Given the description of an element on the screen output the (x, y) to click on. 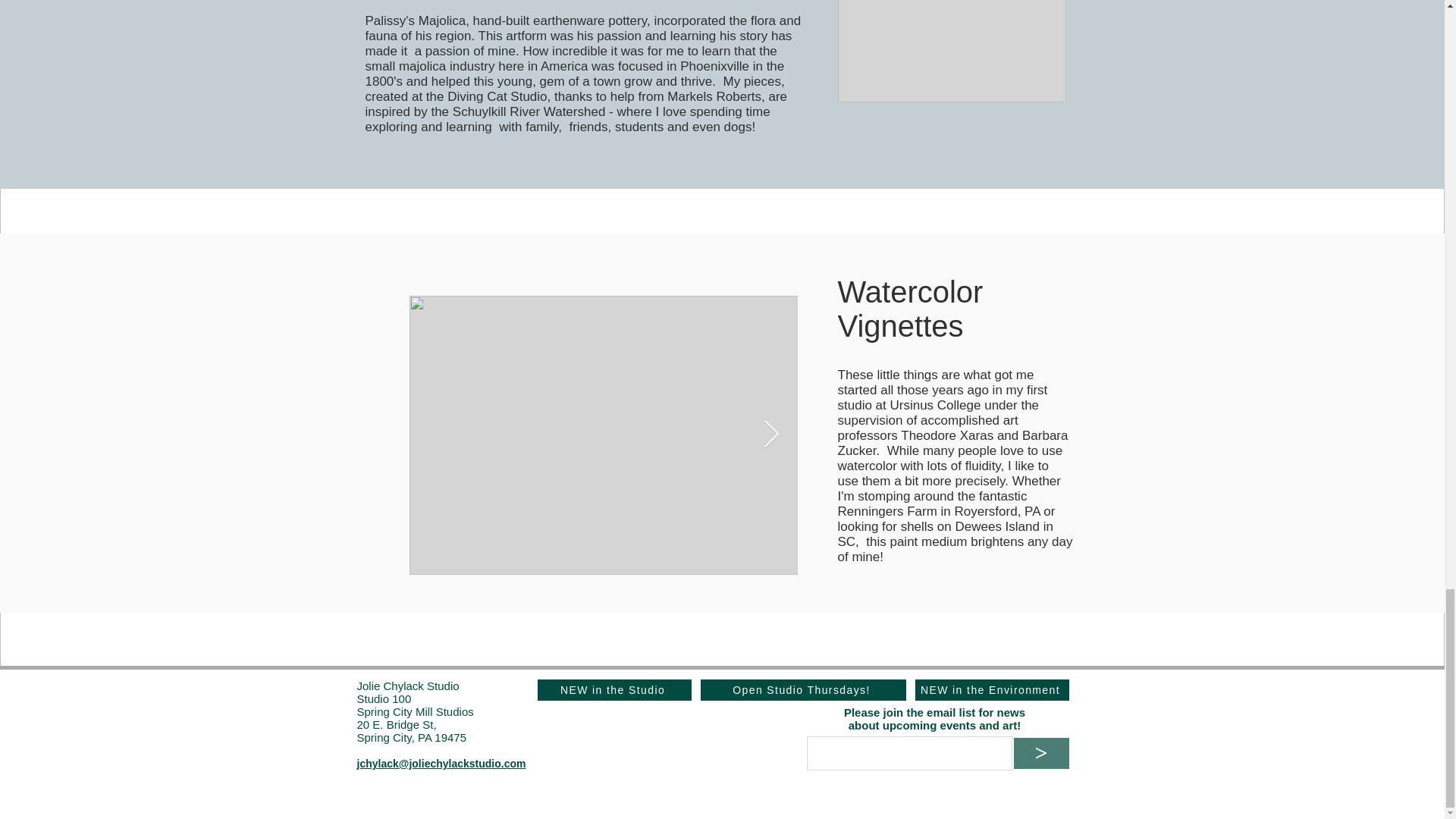
Open Studio Thursdays! (802, 690)
NEW in the Studio (613, 690)
NEW in the Environment (991, 690)
